Given the description of an element on the screen output the (x, y) to click on. 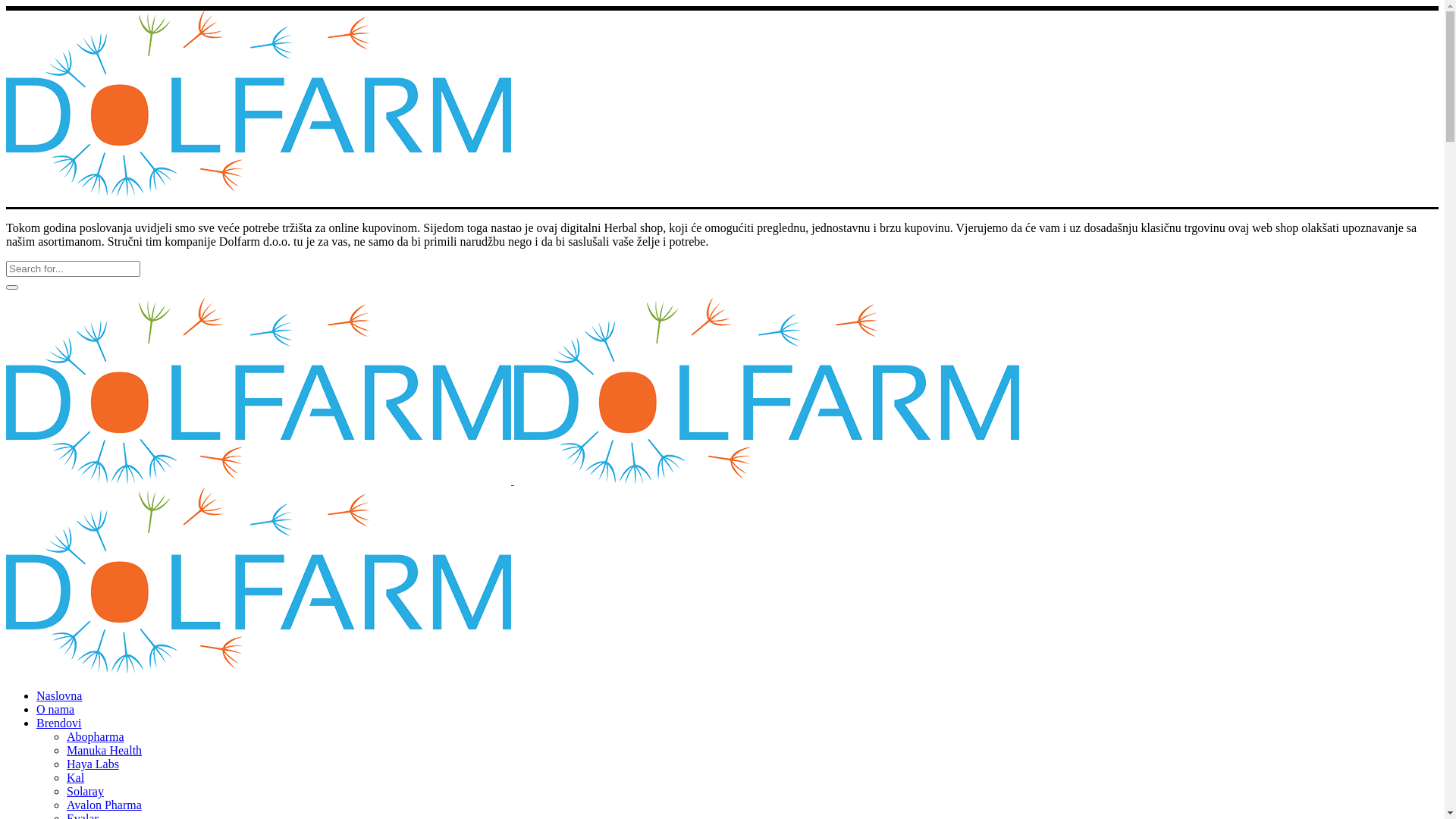
Avalon Pharma Element type: text (103, 804)
Kal Element type: text (75, 777)
Manuka Health Element type: text (103, 749)
Haya Labs Element type: text (92, 763)
Brendovi Element type: text (58, 722)
Solaray Element type: text (84, 790)
Abopharma Element type: text (95, 736)
Naslovna Element type: text (58, 695)
O nama Element type: text (55, 708)
